Given the description of an element on the screen output the (x, y) to click on. 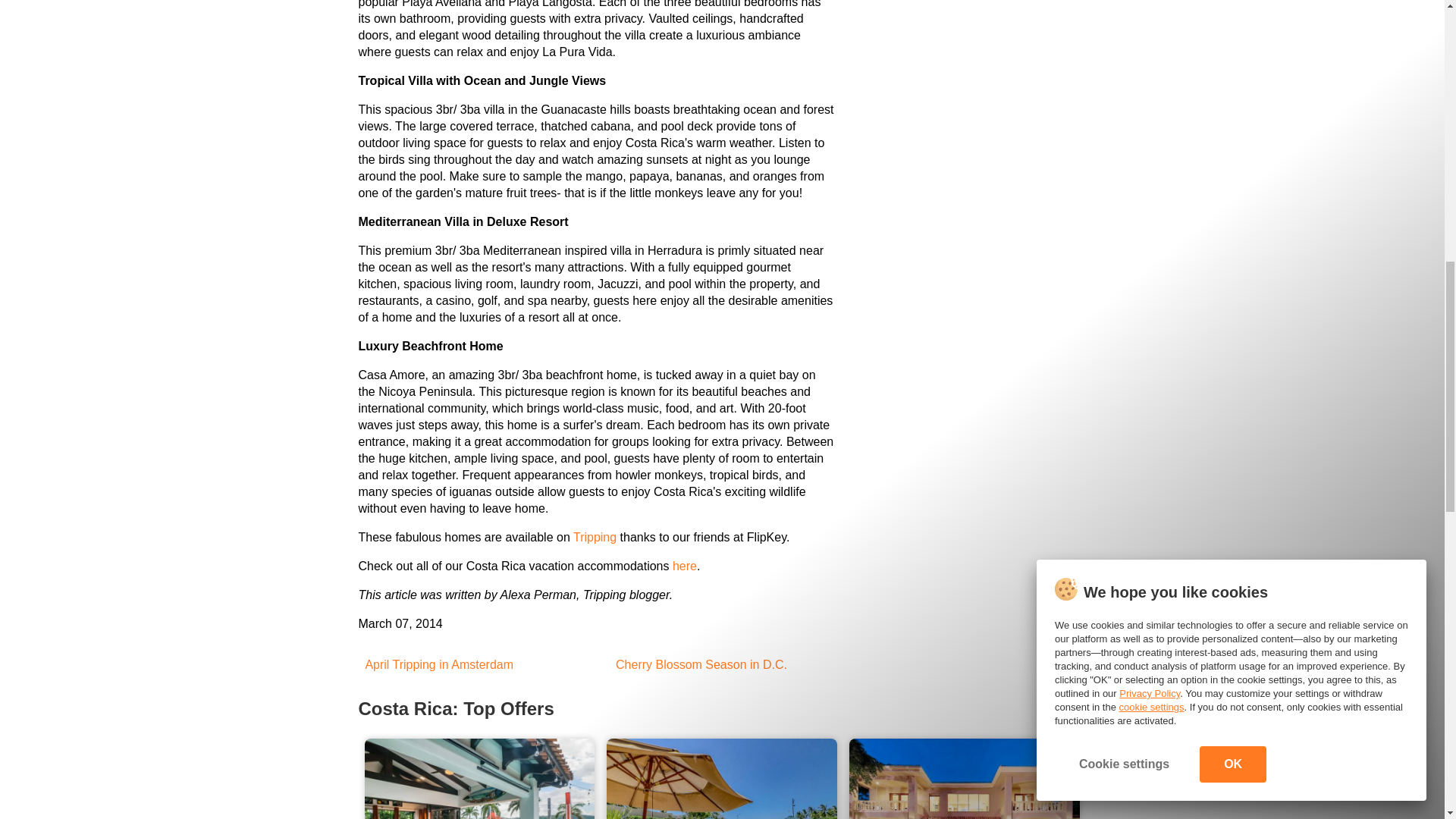
  Cherry Blossom Season in D.C. (697, 664)
Tripping (594, 536)
  April Tripping in Amsterdam (435, 664)
here (684, 565)
